Given the description of an element on the screen output the (x, y) to click on. 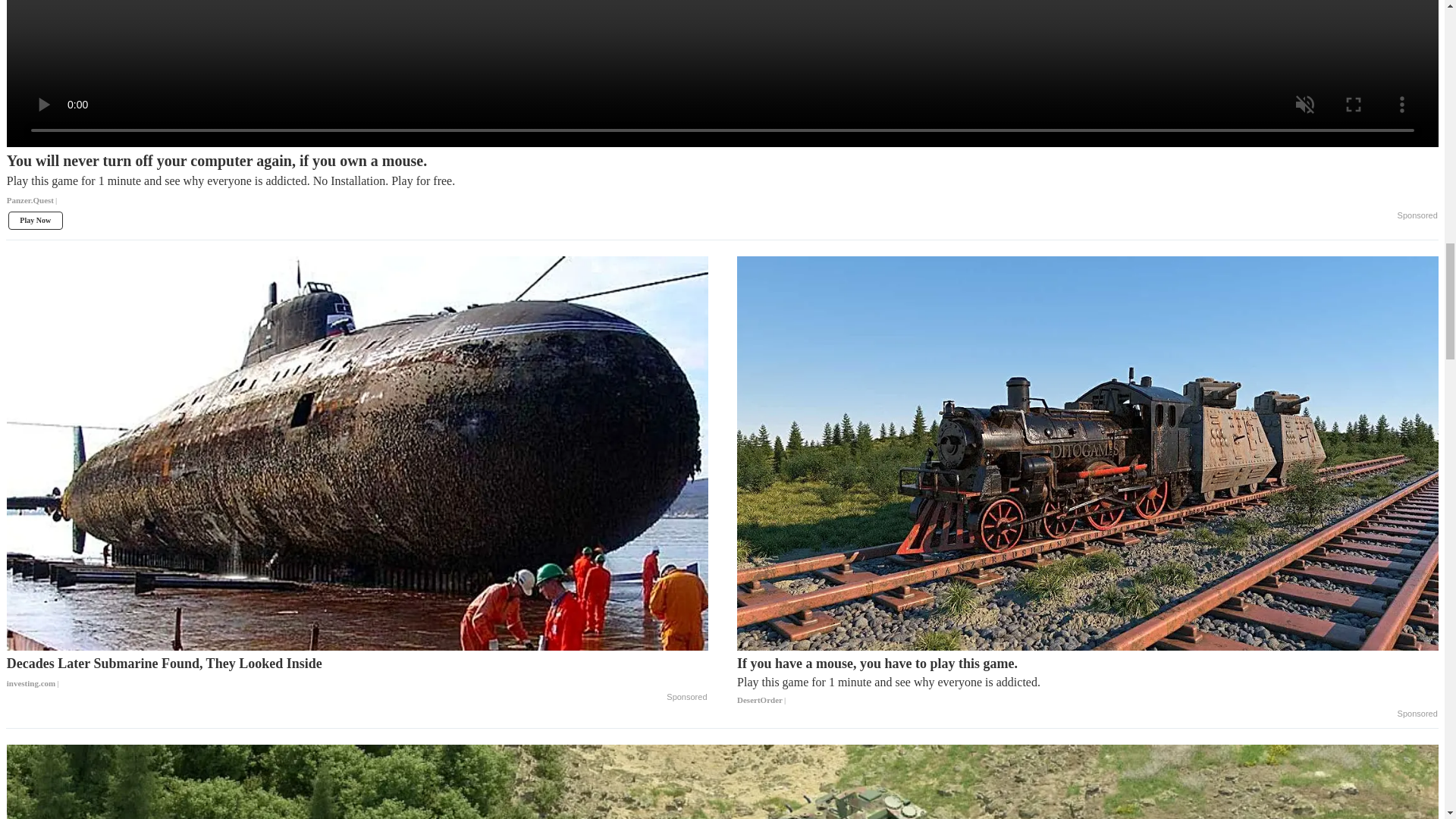
Play Now (35, 220)
Sponsored (686, 697)
